Given the description of an element on the screen output the (x, y) to click on. 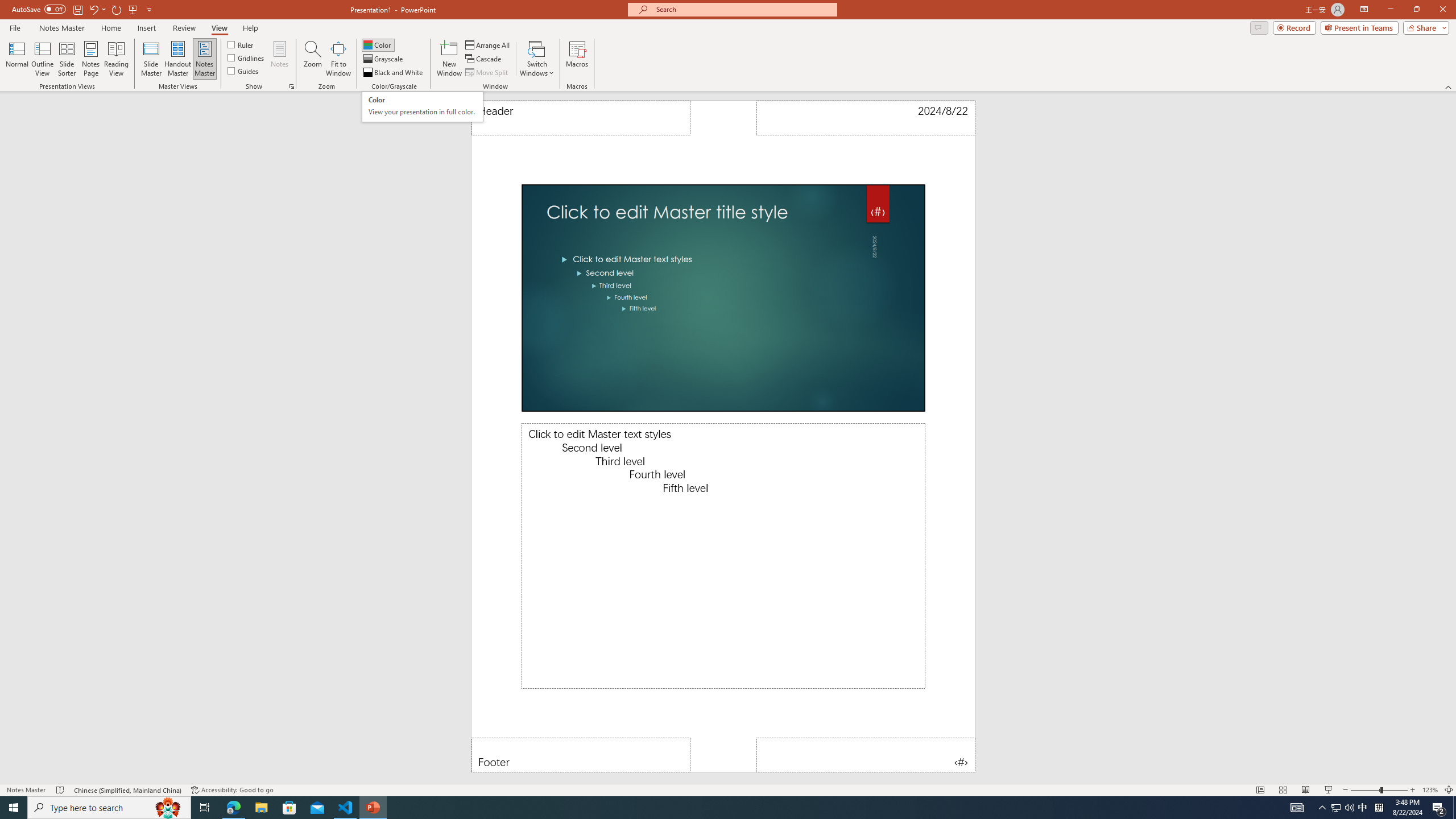
Cascade (484, 58)
Gridlines (246, 56)
Zoom... (312, 58)
Outline View (42, 58)
Date (866, 117)
